Given the description of an element on the screen output the (x, y) to click on. 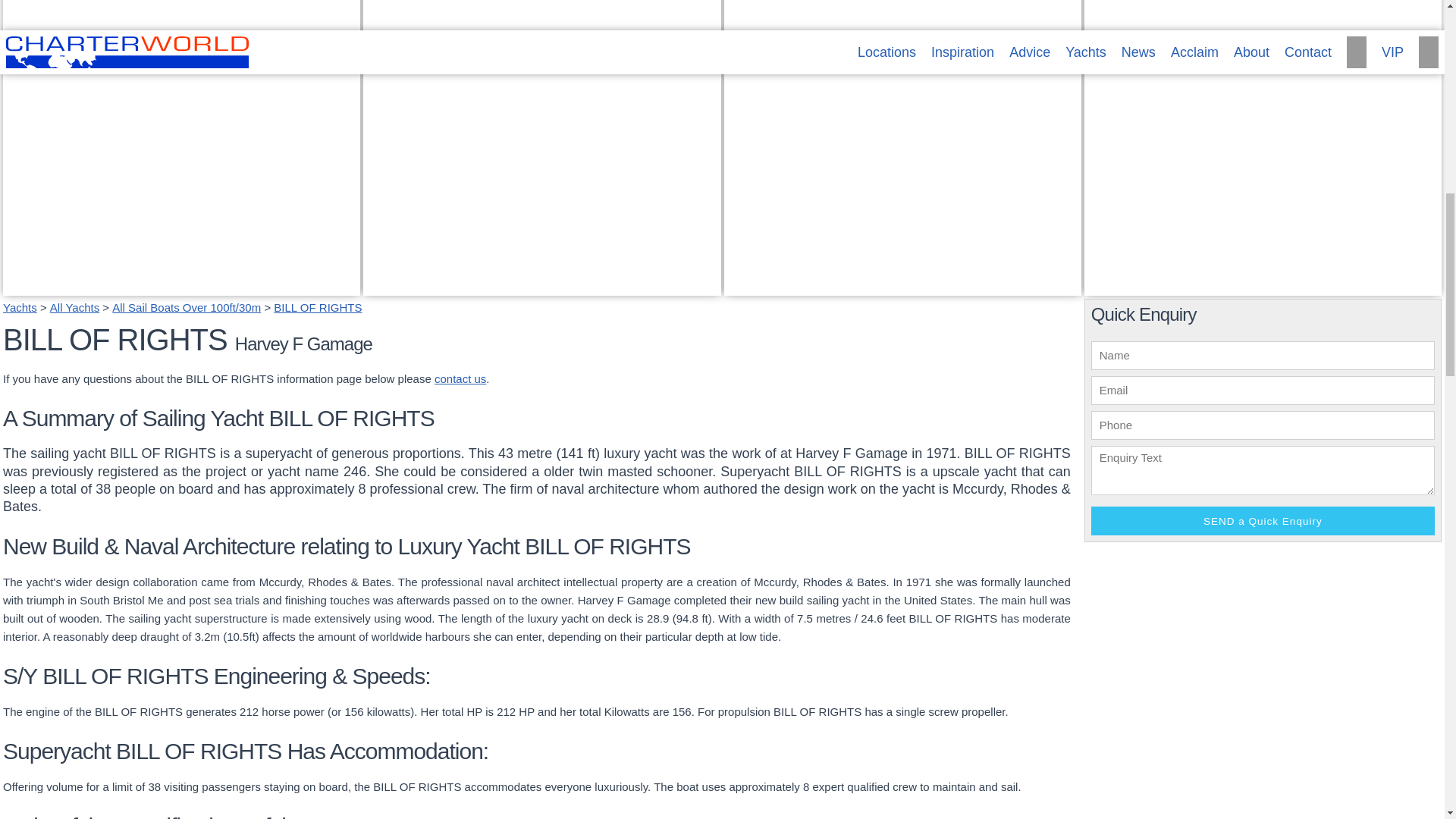
Can a luxury charter yacht survive ... (832, 268)
contact us (459, 378)
BILL OF RIGHTS (317, 307)
The 43m Yacht BILL OF RIGHTS (1262, 683)
All Yachts (74, 307)
SEND a Quick Enquiry (1262, 520)
GUILLEMOT (1262, 286)
Maldives (394, 282)
Yachts (19, 307)
The 43m Yacht BILL OF RIGHTS (1262, 683)
